Given the description of an element on the screen output the (x, y) to click on. 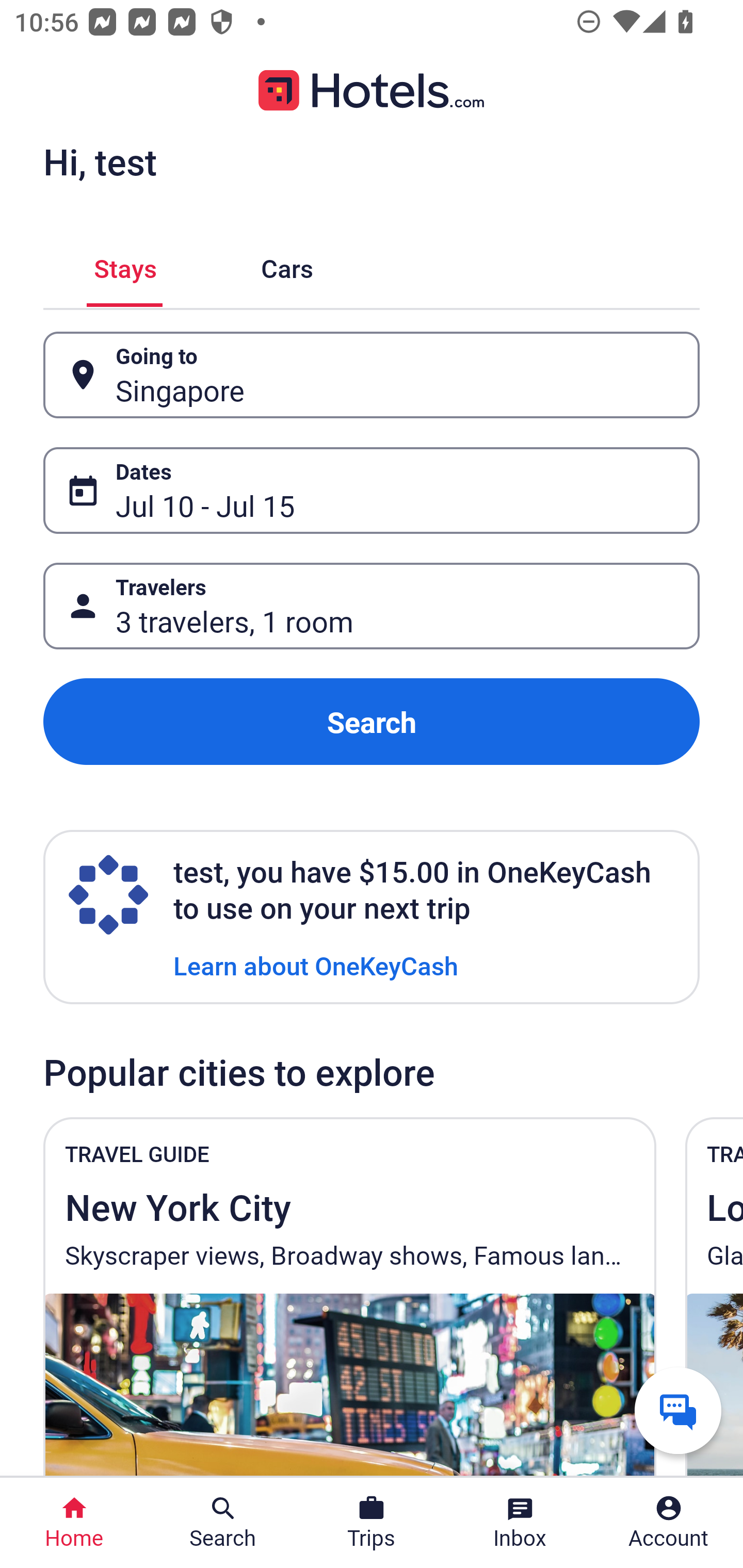
Hi, test (99, 161)
Cars (286, 265)
Going to Button Singapore (371, 375)
Dates Button Jul 10 - Jul 15 (371, 489)
Travelers Button 3 travelers, 1 room (371, 605)
Search (371, 721)
Learn about OneKeyCash Learn about OneKeyCash Link (315, 964)
Get help from a virtual agent (677, 1410)
Search Search Button (222, 1522)
Trips Trips Button (371, 1522)
Inbox Inbox Button (519, 1522)
Account Profile. Button (668, 1522)
